Given the description of an element on the screen output the (x, y) to click on. 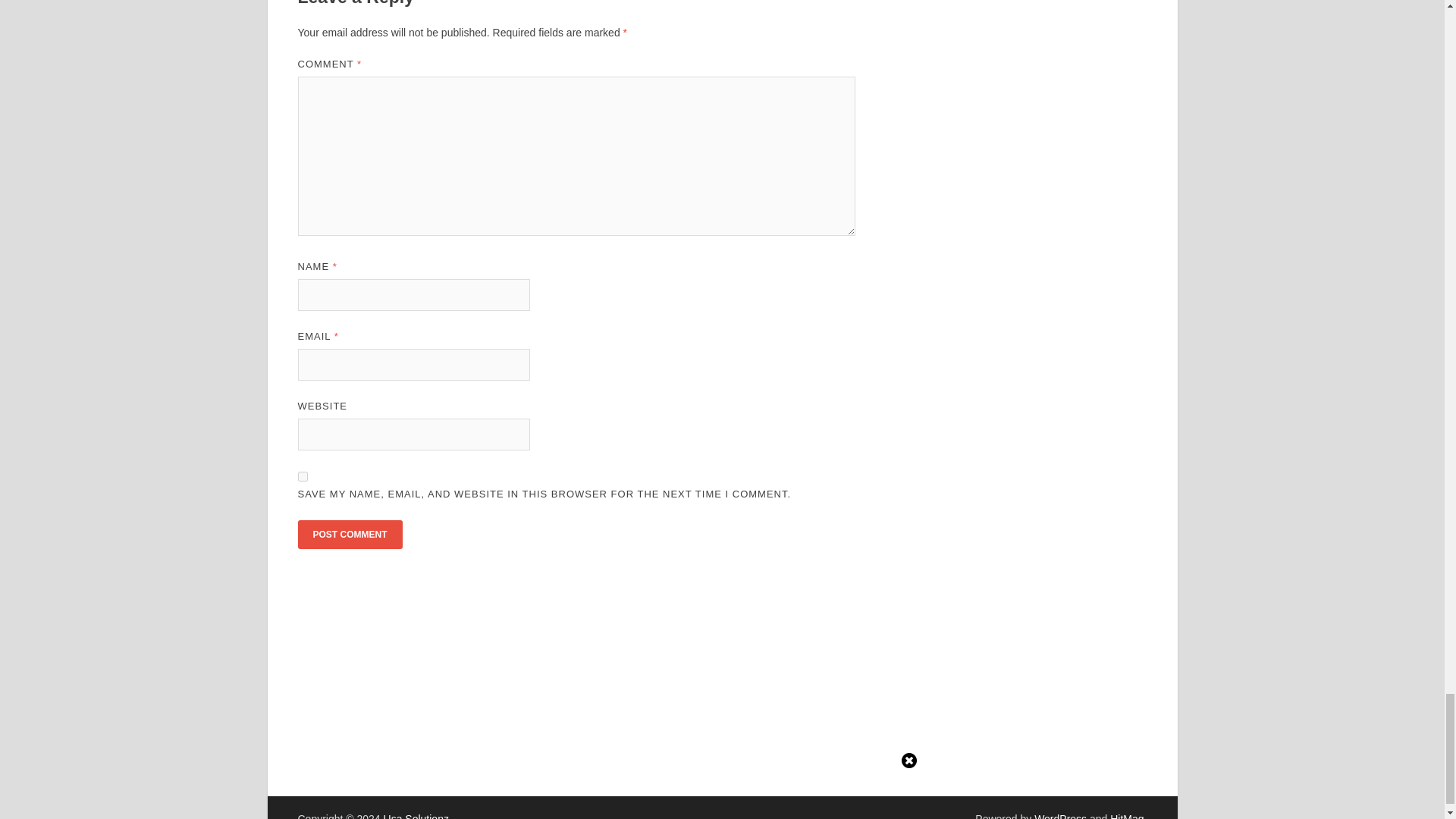
Post Comment (349, 534)
Post Comment (349, 534)
yes (302, 476)
